Given the description of an element on the screen output the (x, y) to click on. 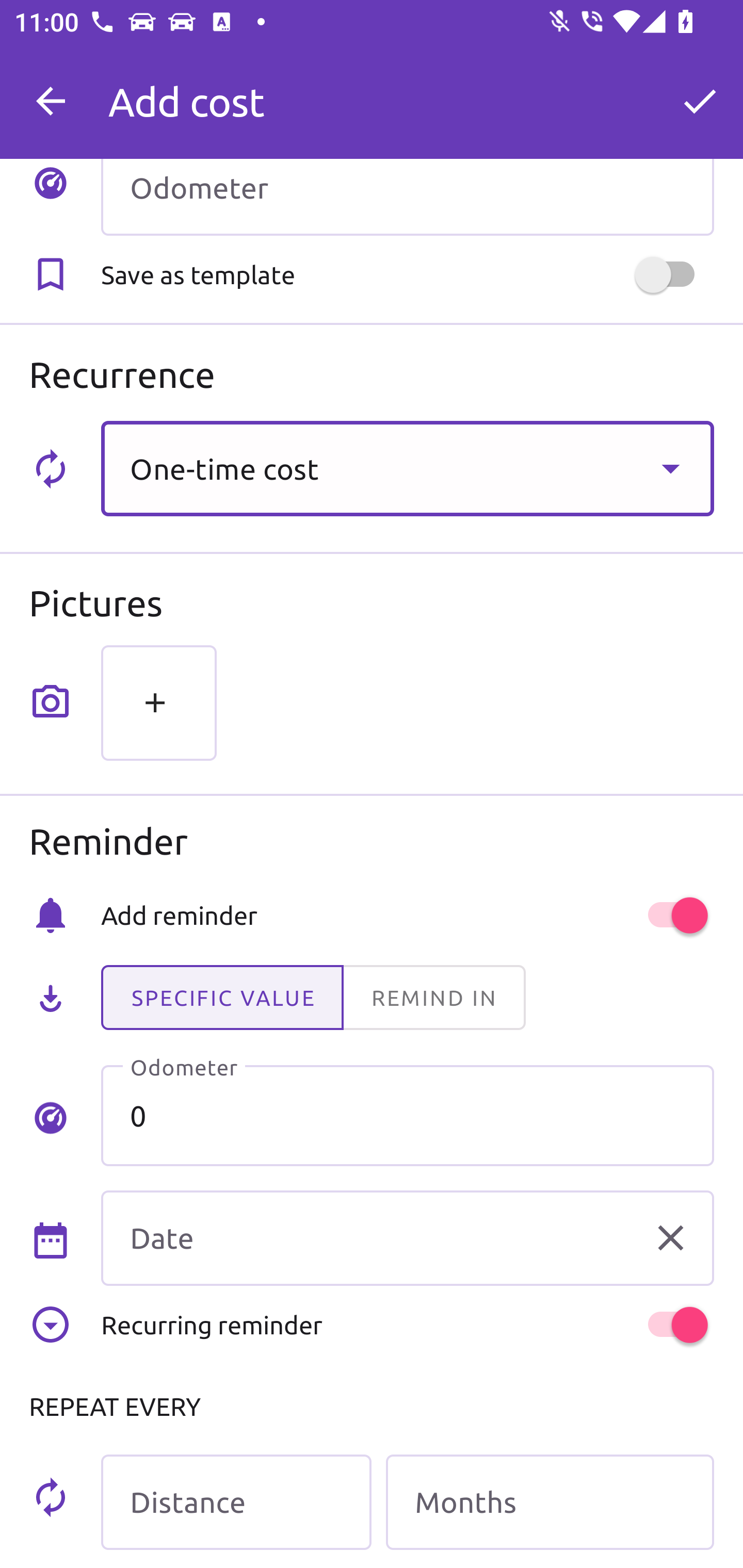
M My Car 0 km (407, 92)
Navigate up (50, 101)
OK (699, 101)
Odometer (407, 196)
Save as template (407, 274)
One-time cost (407, 467)
Show dropdown menu (670, 467)
Add reminder (407, 914)
SPECIFIC VALUE (222, 997)
REMIND IN (433, 997)
0 (407, 1115)
Date (407, 1237)
Delete (670, 1237)
Recurring reminder (407, 1324)
Distance (236, 1502)
Months (549, 1502)
